Given the description of an element on the screen output the (x, y) to click on. 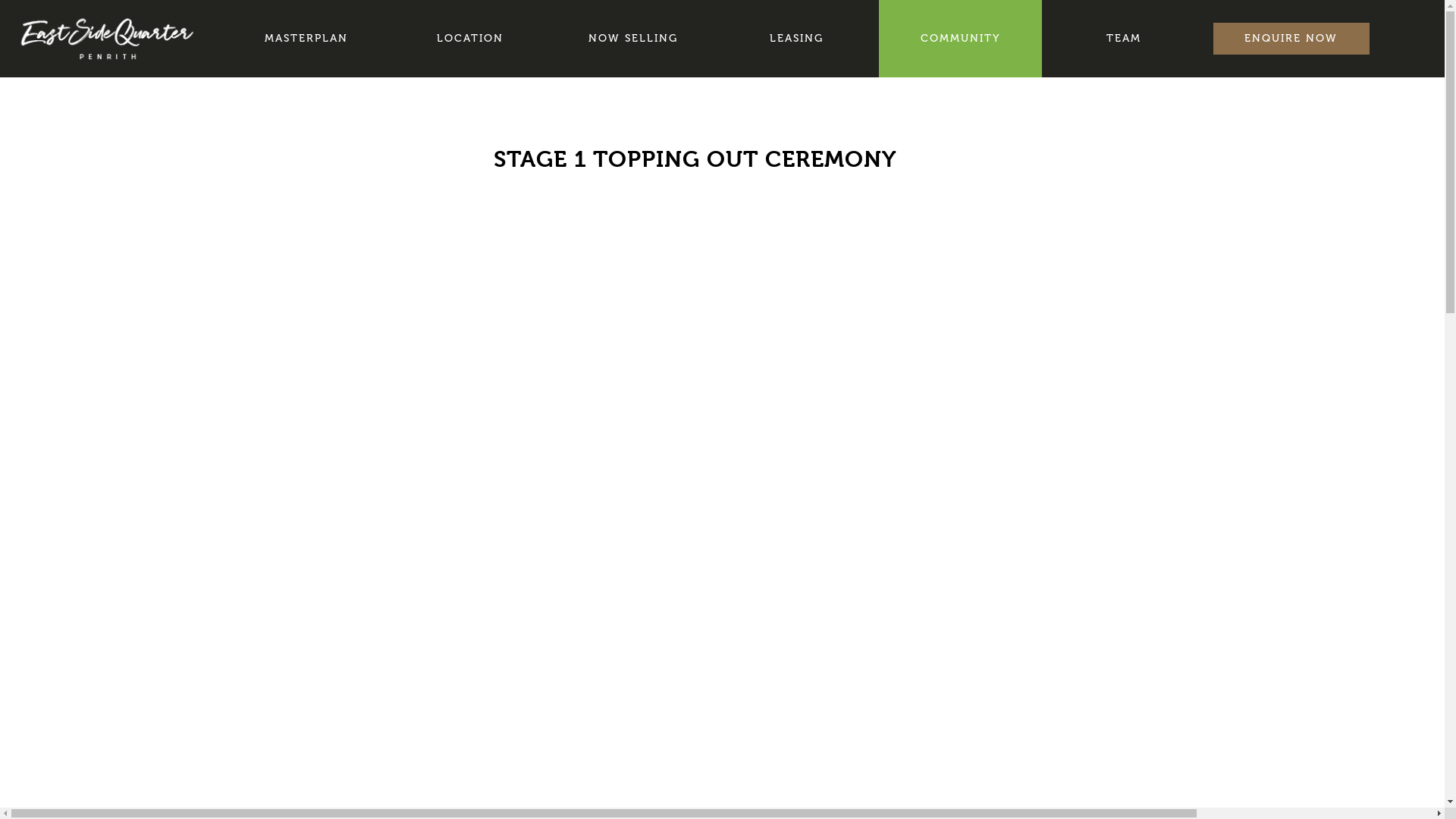
ENQUIRE NOW Element type: text (1291, 38)
MASTERPLAN Element type: text (306, 38)
LEASING Element type: text (796, 38)
LOCATION Element type: text (470, 38)
TEAM Element type: text (1123, 38)
NOW SELLING Element type: text (633, 38)
COMMUNITY Element type: text (960, 38)
